Given the description of an element on the screen output the (x, y) to click on. 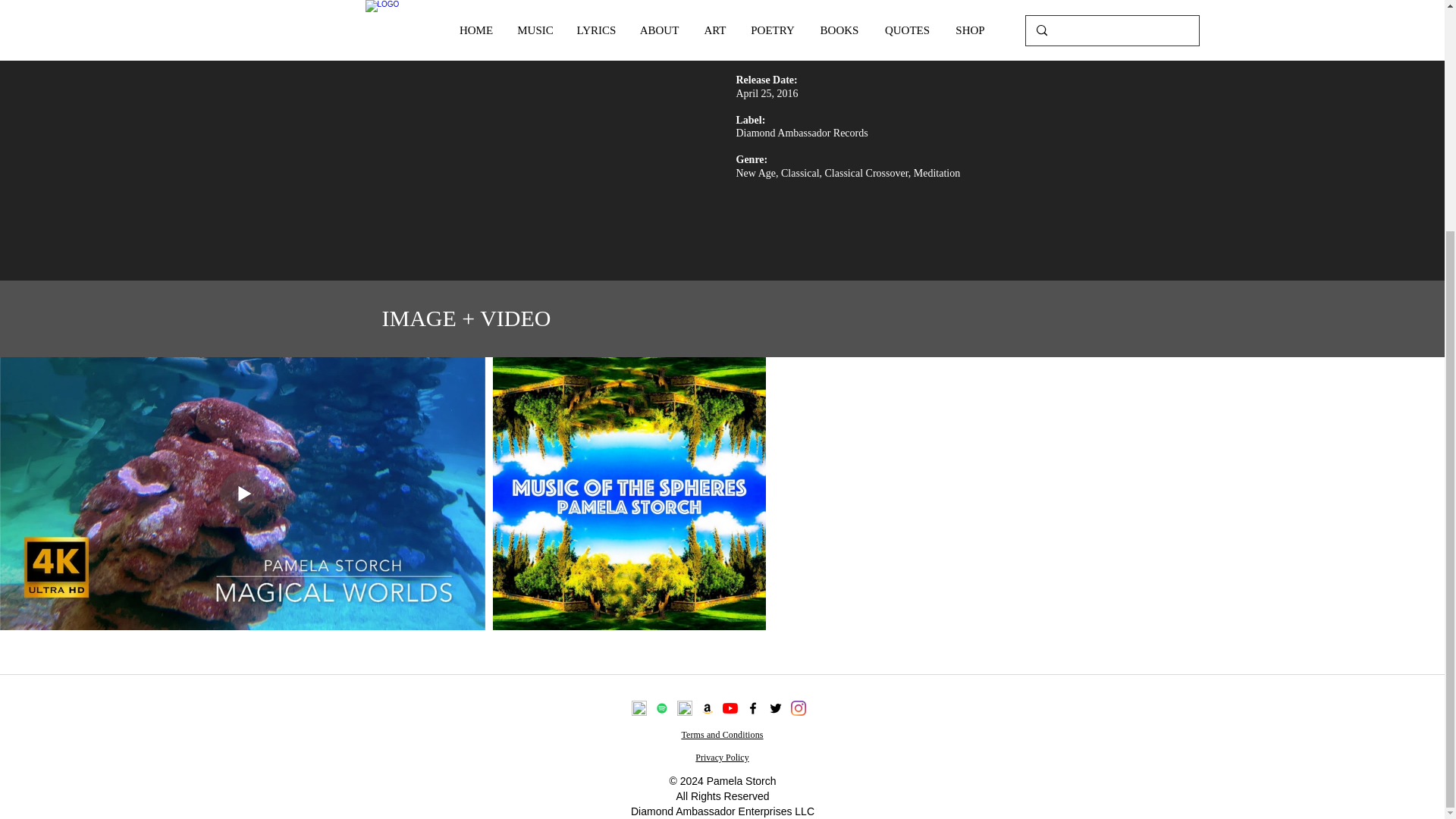
Terms and Conditions (721, 734)
Privacy Policy (721, 757)
